Given the description of an element on the screen output the (x, y) to click on. 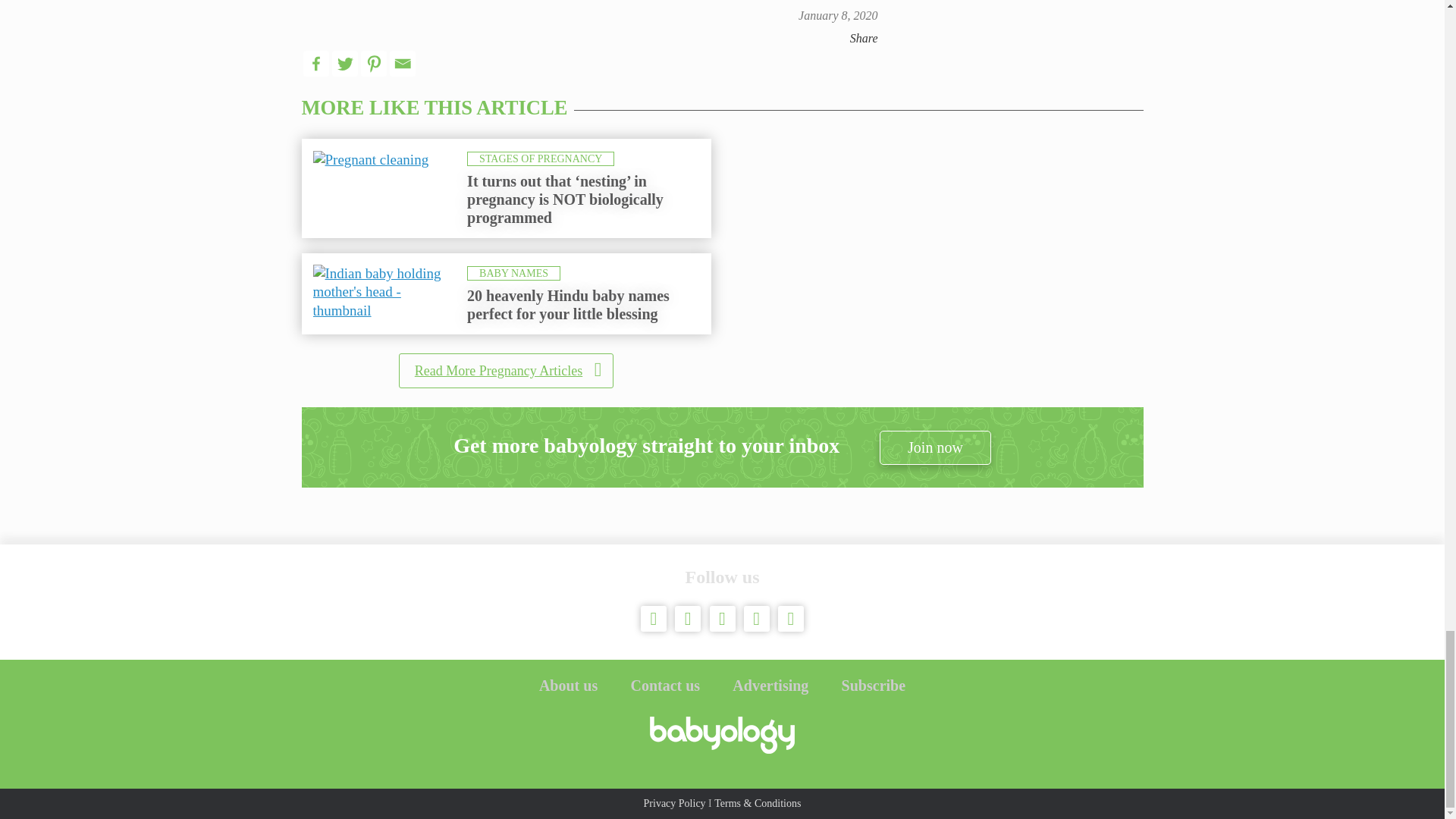
Facebook (315, 63)
Twitter (344, 63)
9:51 am (837, 15)
